Given the description of an element on the screen output the (x, y) to click on. 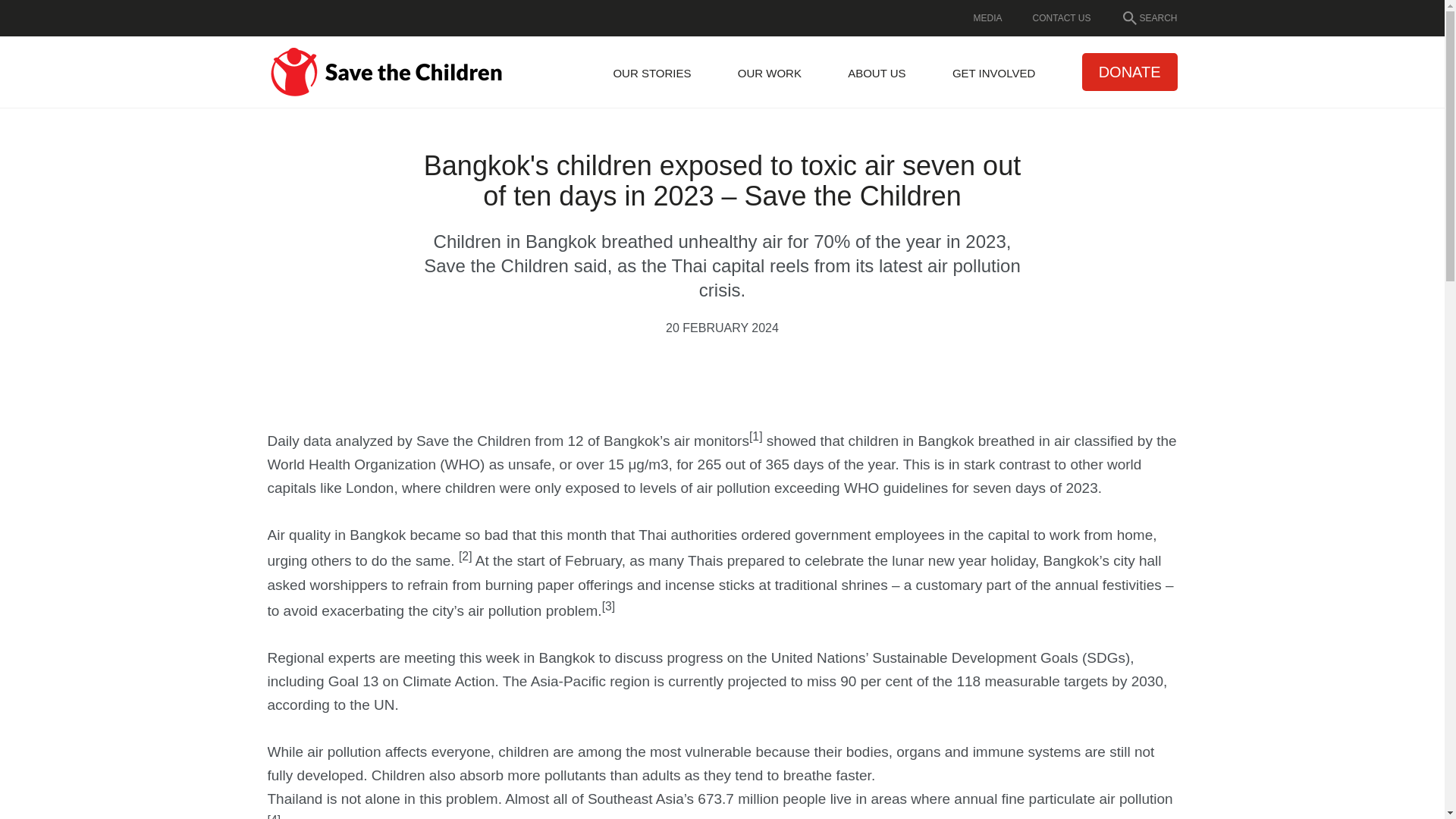
MEDIA (988, 17)
CONTACT US (1061, 17)
